Given the description of an element on the screen output the (x, y) to click on. 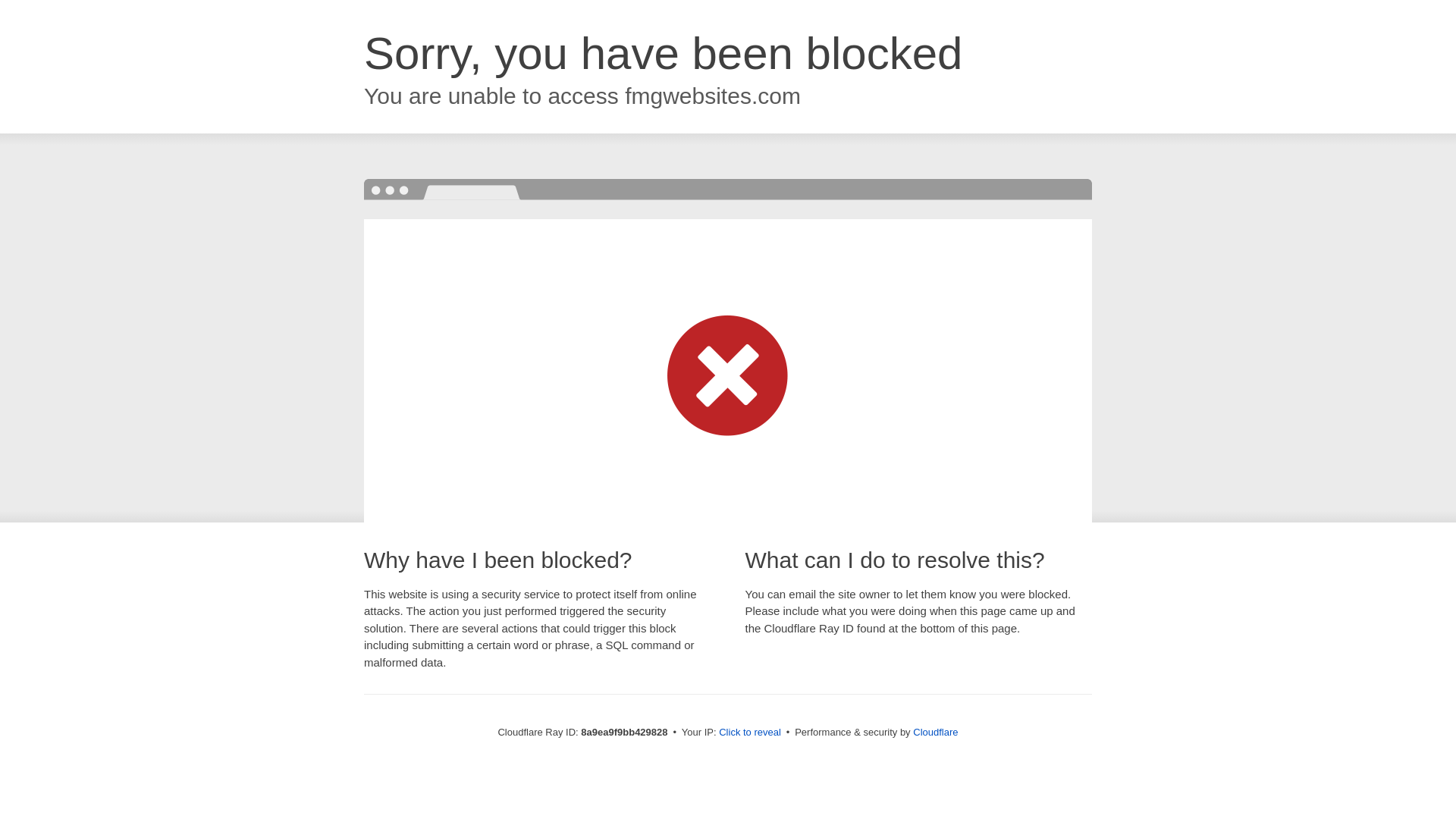
Cloudflare (935, 731)
Click to reveal (749, 732)
